Given the description of an element on the screen output the (x, y) to click on. 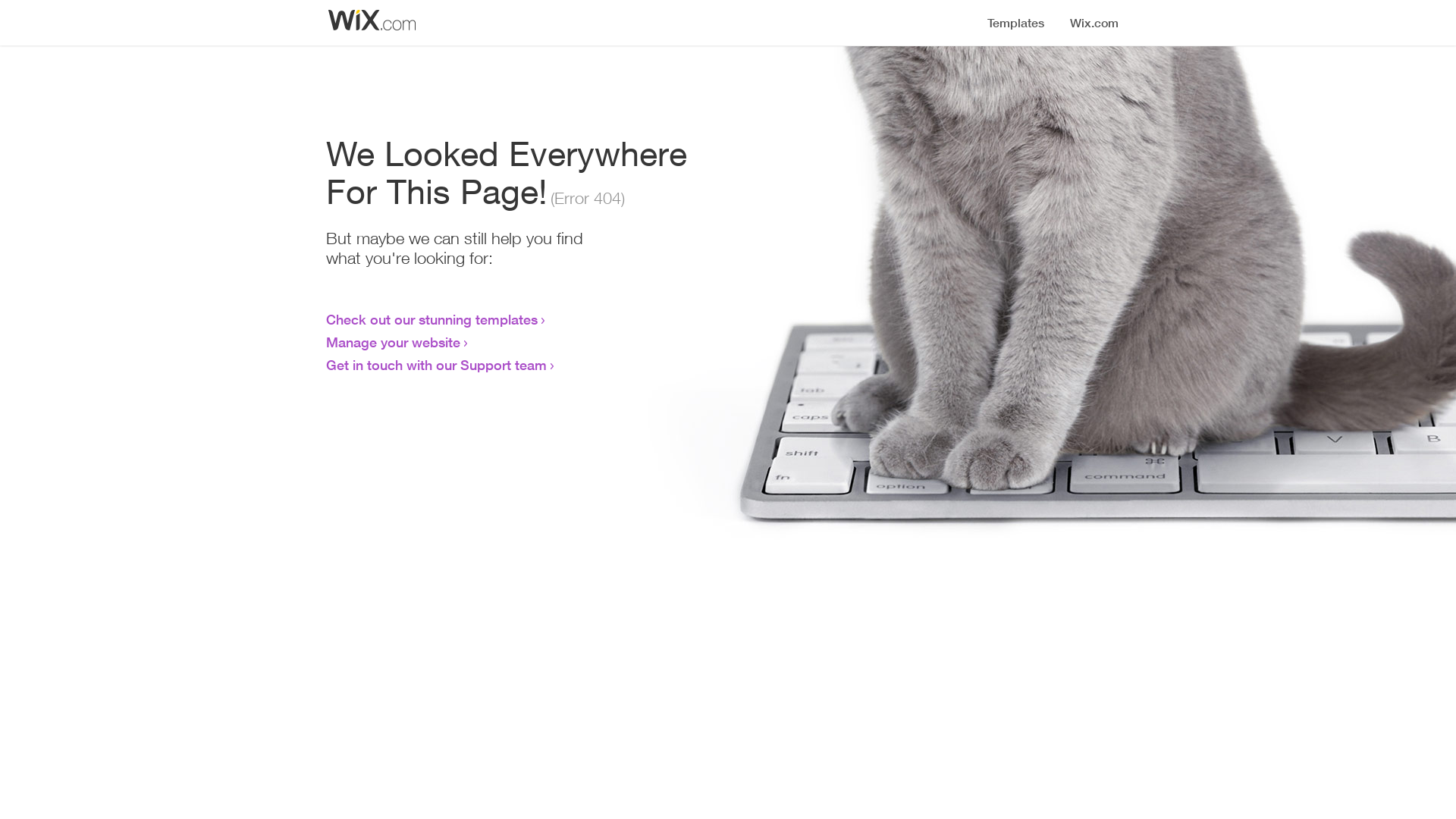
Check out our stunning templates Element type: text (431, 318)
Get in touch with our Support team Element type: text (436, 364)
Manage your website Element type: text (393, 341)
